Given the description of an element on the screen output the (x, y) to click on. 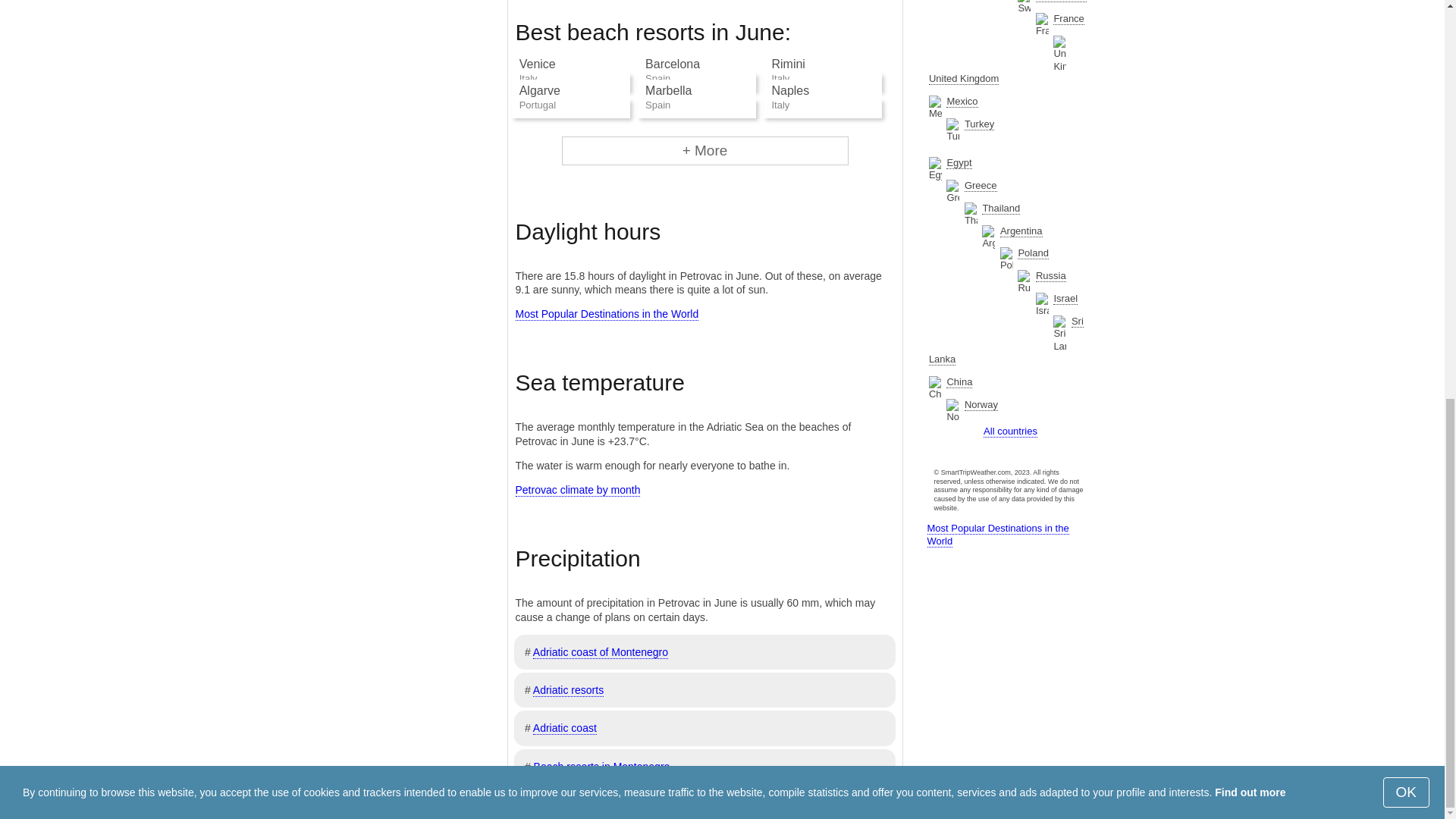
Venice (537, 63)
Rimini (788, 63)
Marbella (668, 90)
Switzerland (1060, 1)
Algarve (539, 90)
Turkey (978, 123)
United Kingdom (963, 78)
Mexico (961, 101)
Find out more (1249, 16)
OK (1406, 16)
